Given the description of an element on the screen output the (x, y) to click on. 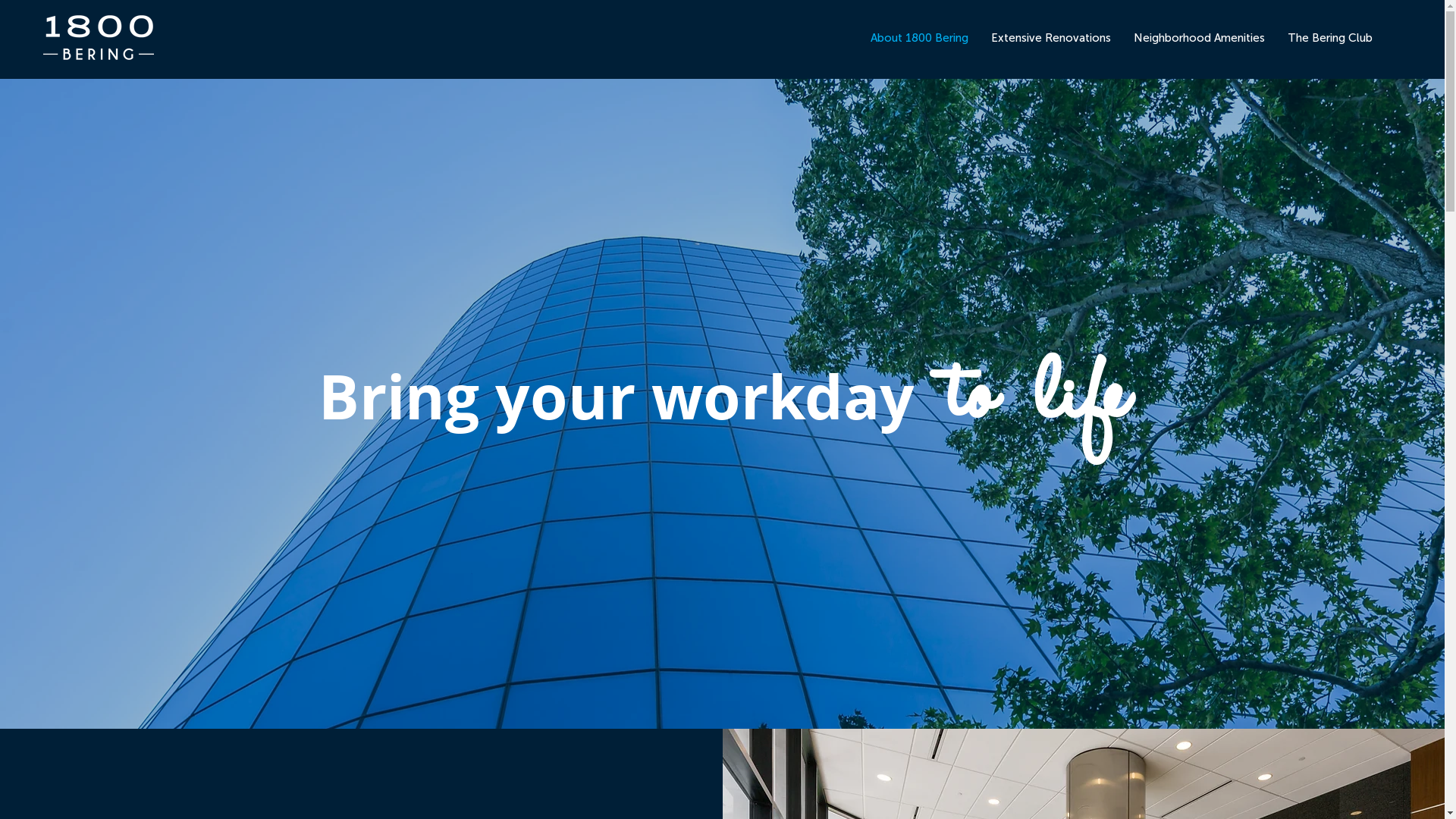
Neighborhood Amenities Element type: text (1199, 38)
About 1800 Bering Element type: text (919, 38)
The Bering Club Element type: text (1329, 38)
Extensive Renovations Element type: text (1050, 38)
